Given the description of an element on the screen output the (x, y) to click on. 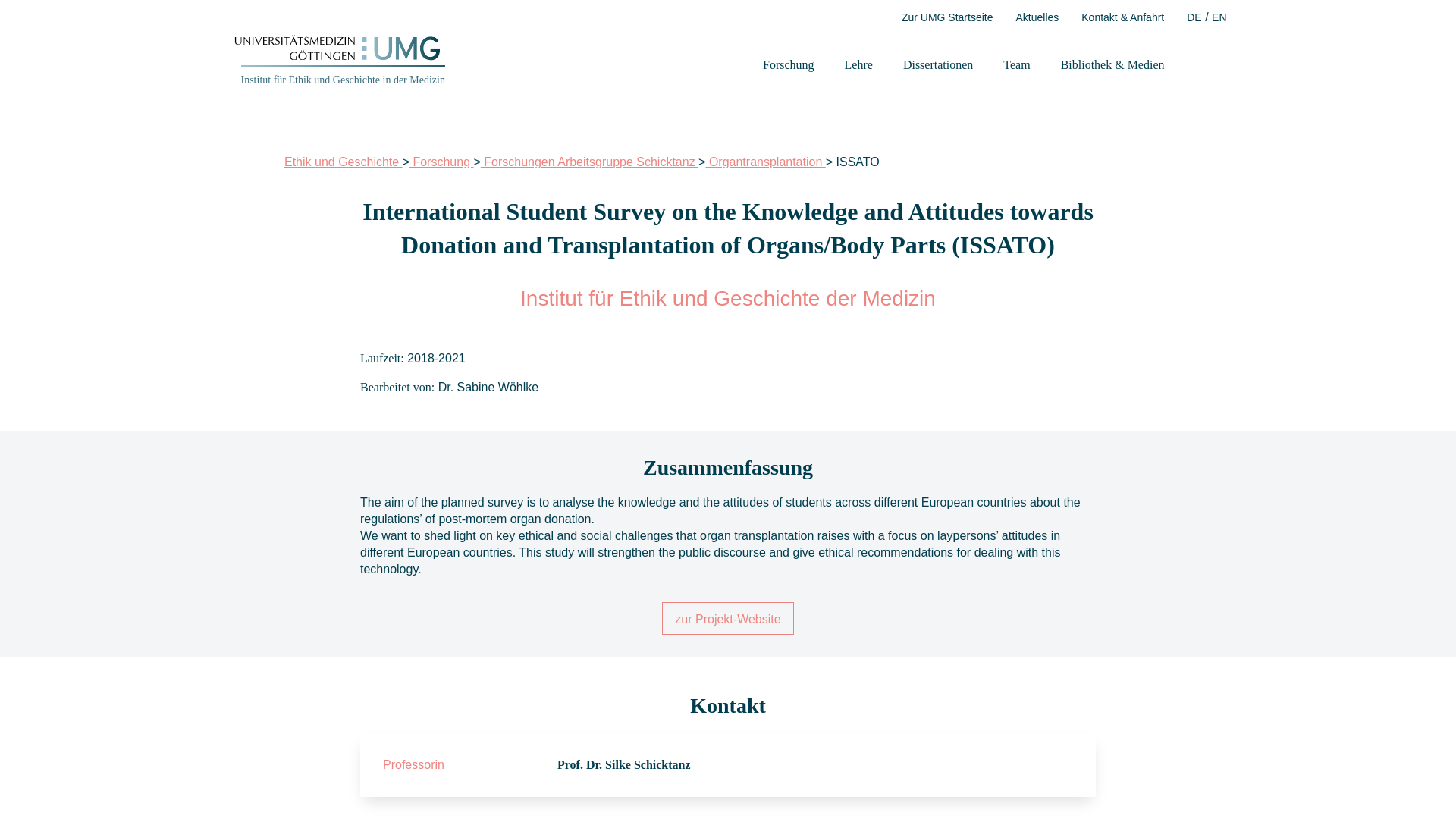
Startseite (336, 56)
Zur UMG Startseite (946, 17)
Aktuelles (1036, 17)
Dissertationen (937, 65)
Forschung (787, 65)
Startseite (343, 79)
Forschung (787, 65)
Aktuelles (1036, 17)
